Given the description of an element on the screen output the (x, y) to click on. 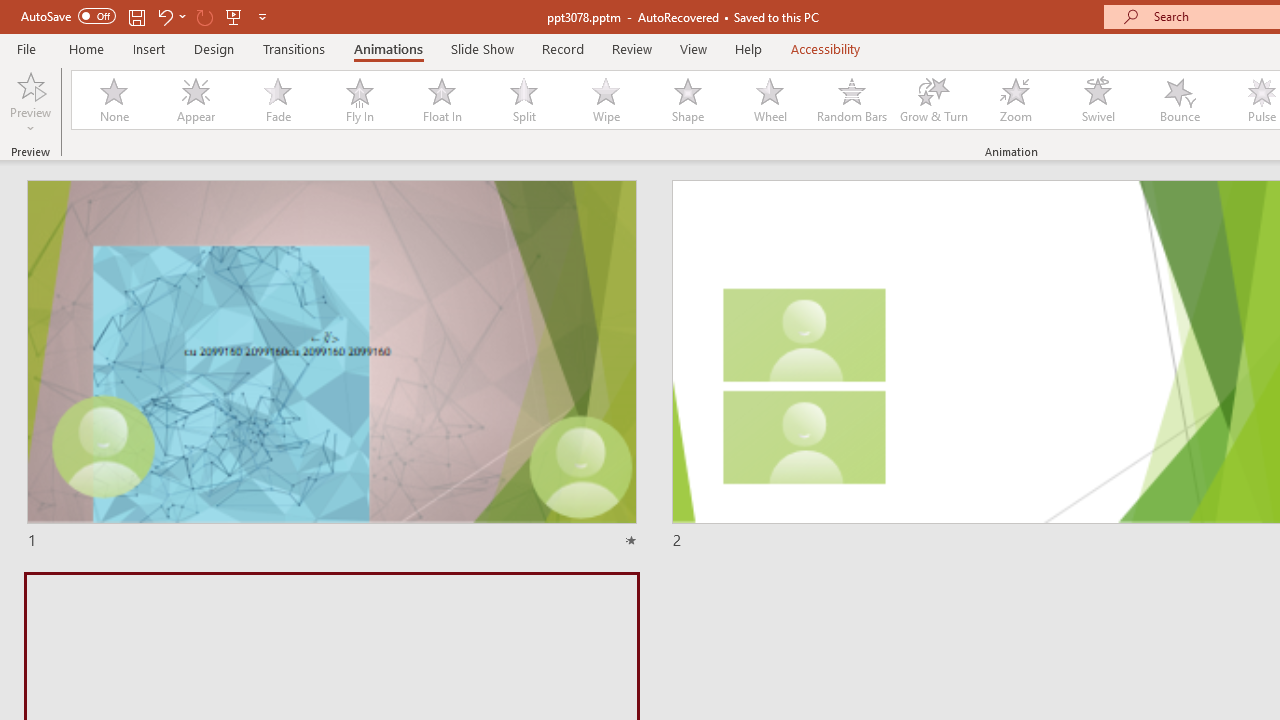
Preview (30, 102)
Wipe (605, 100)
Preview (30, 84)
Float In (441, 100)
